Given the description of an element on the screen output the (x, y) to click on. 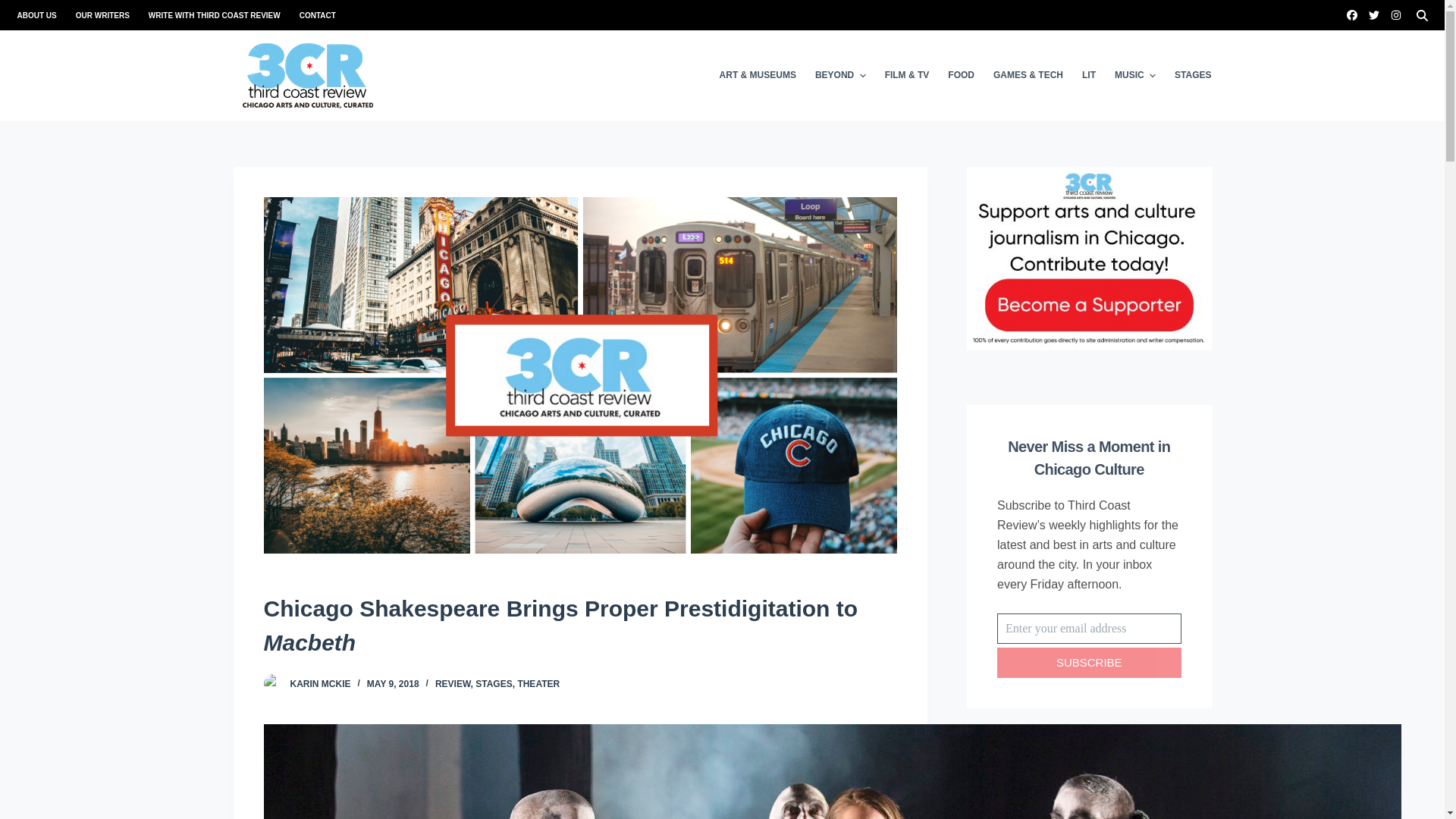
WRITE WITH THIRD COAST REVIEW (213, 15)
Advertisement (1088, 778)
OUR WRITERS (101, 15)
ABOUT US (40, 15)
CONTACT (312, 15)
